Given the description of an element on the screen output the (x, y) to click on. 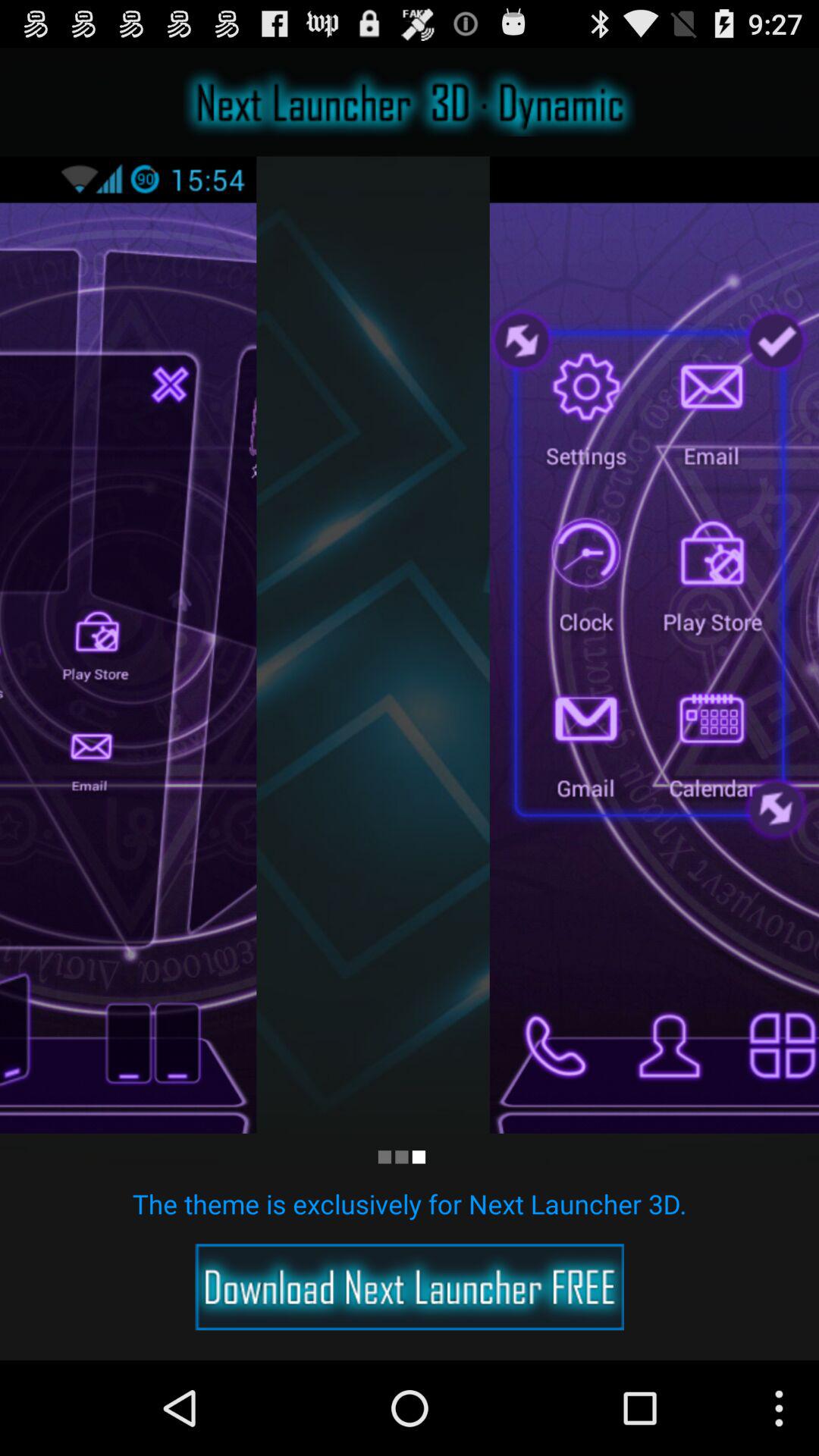
turn off app below the the theme is (409, 1286)
